Given the description of an element on the screen output the (x, y) to click on. 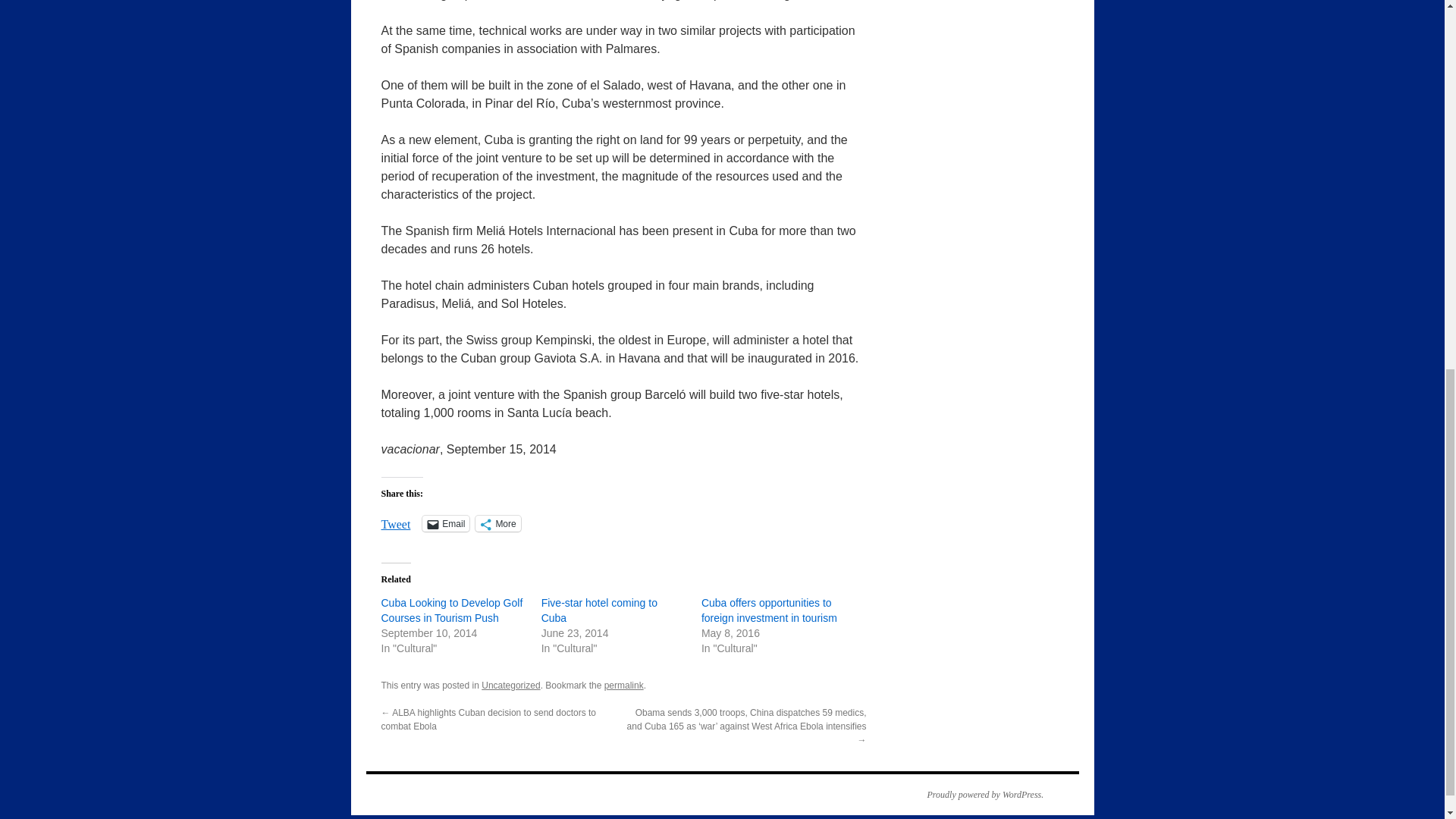
Email (445, 523)
Proudly powered by WordPress. (977, 794)
Five-star hotel coming to Cuba (599, 610)
Cuba offers opportunities to foreign investment in tourism (769, 610)
Cuba Looking to Develop Golf Courses in Tourism Push (451, 610)
Five-star hotel coming to Cuba (599, 610)
Uncategorized (510, 685)
More (497, 523)
Click to email a link to a friend (445, 523)
Cuba Looking to Develop Golf Courses in Tourism Push (451, 610)
permalink (623, 685)
Tweet (395, 522)
